Given the description of an element on the screen output the (x, y) to click on. 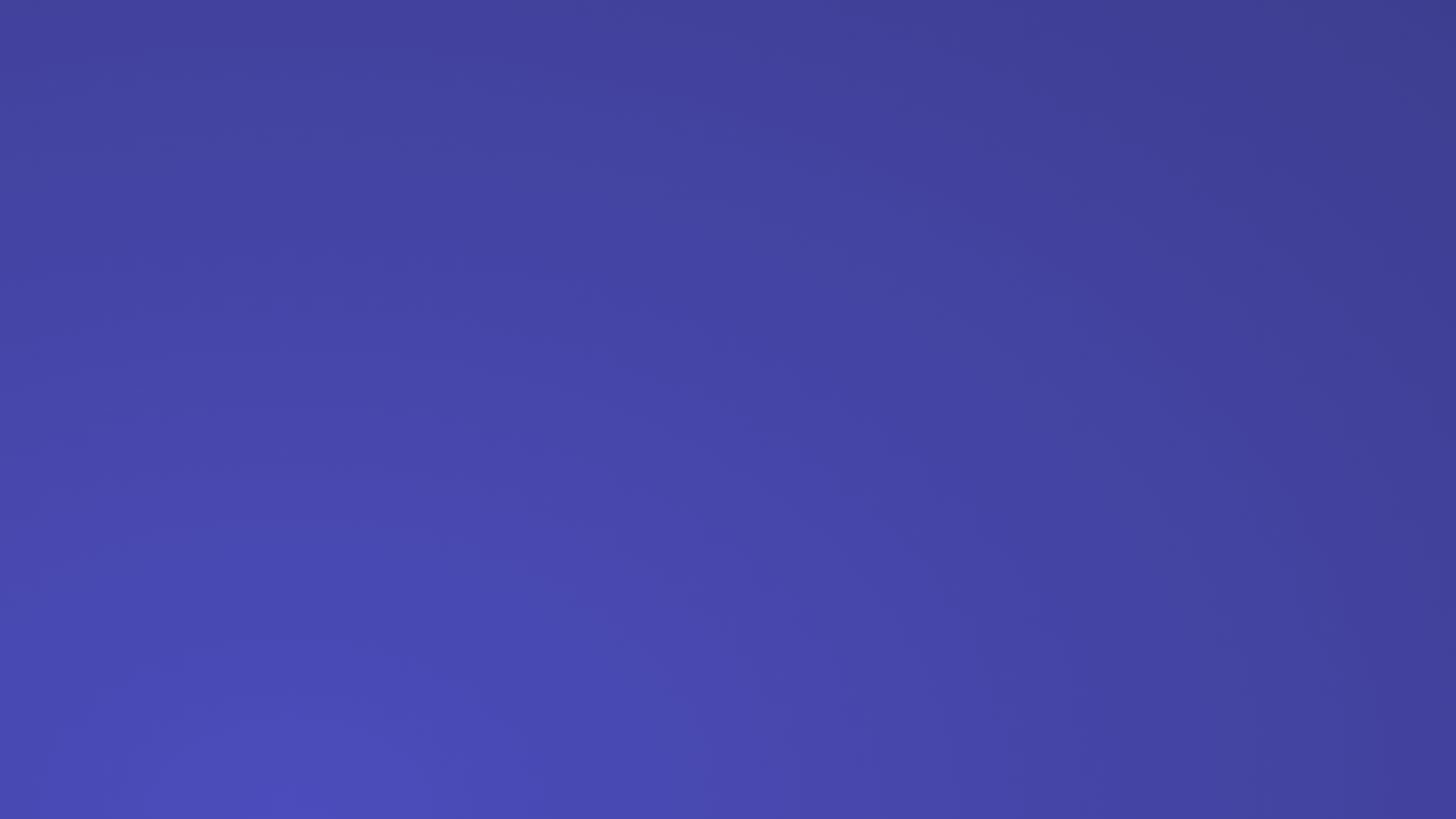
Drama (51, 549)
Support us (1161, 31)
News (313, 32)
Support us (1267, 31)
CINEMANIA PRO (419, 32)
2023 Edition (205, 31)
